Given the description of an element on the screen output the (x, y) to click on. 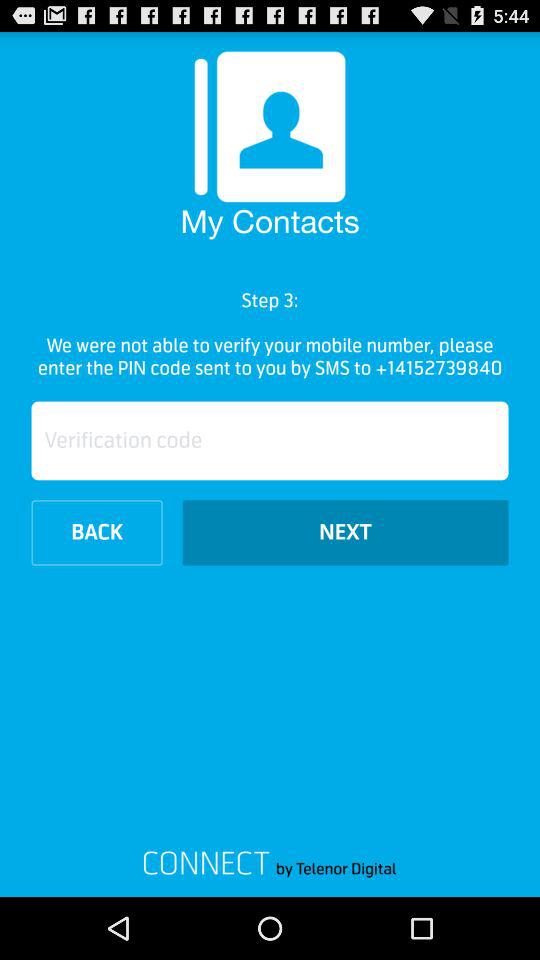
turn off the item next to the next icon (96, 532)
